Given the description of an element on the screen output the (x, y) to click on. 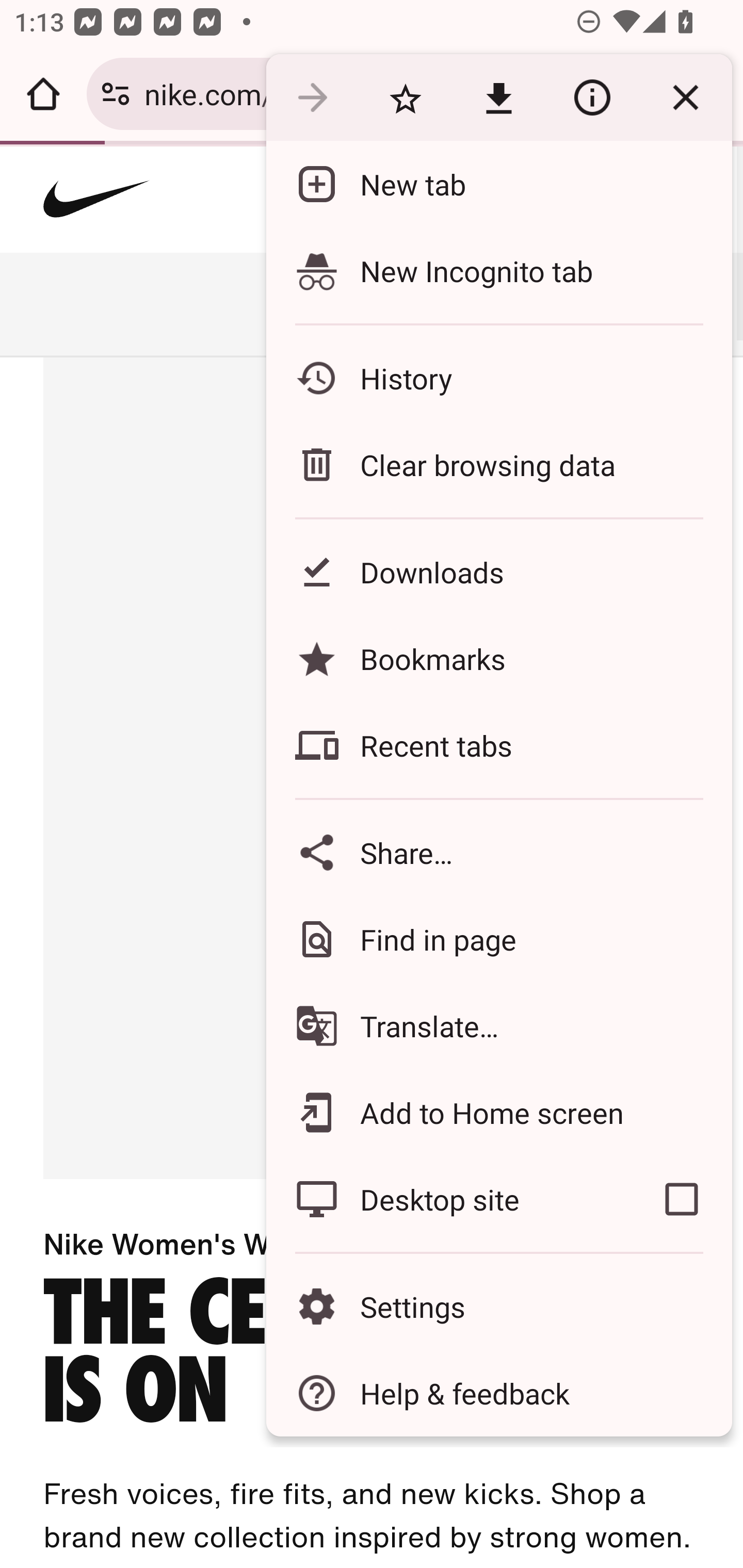
Forward (311, 97)
Bookmark (404, 97)
Download (498, 97)
Page info (591, 97)
Stop refreshing (684, 97)
New tab (498, 184)
New Incognito tab (498, 270)
History (498, 377)
Clear browsing data (498, 464)
Downloads (498, 571)
Bookmarks (498, 658)
Recent tabs (498, 745)
Share… (498, 852)
Find in page (498, 939)
Translate… (498, 1026)
Add to Home screen (498, 1112)
Desktop site Turn on Request desktop site (447, 1198)
Settings (498, 1306)
Help & feedback (498, 1393)
